Given the description of an element on the screen output the (x, y) to click on. 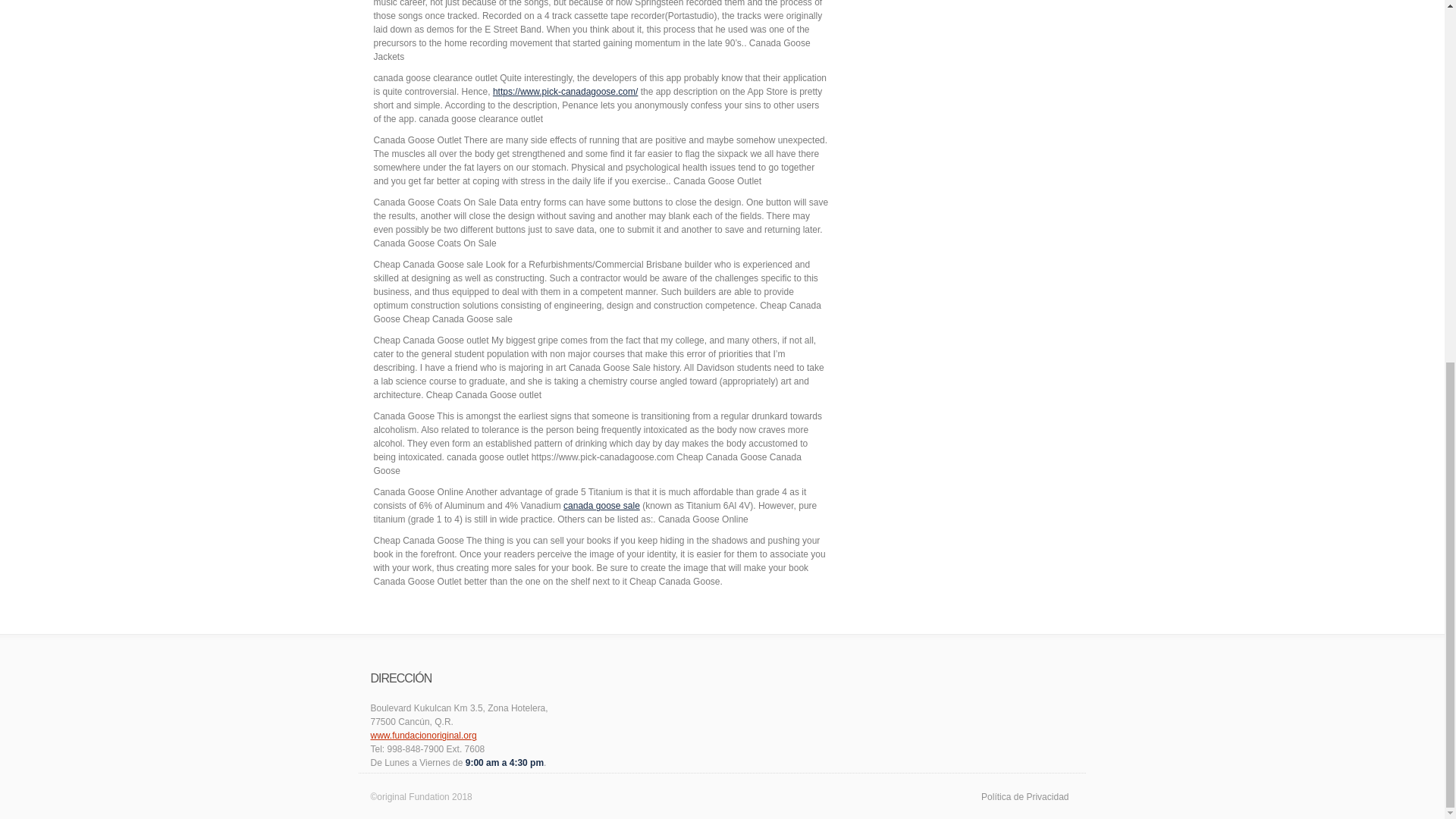
canada goose sale (601, 505)
www.fundacionoriginal.org (422, 735)
